Given the description of an element on the screen output the (x, y) to click on. 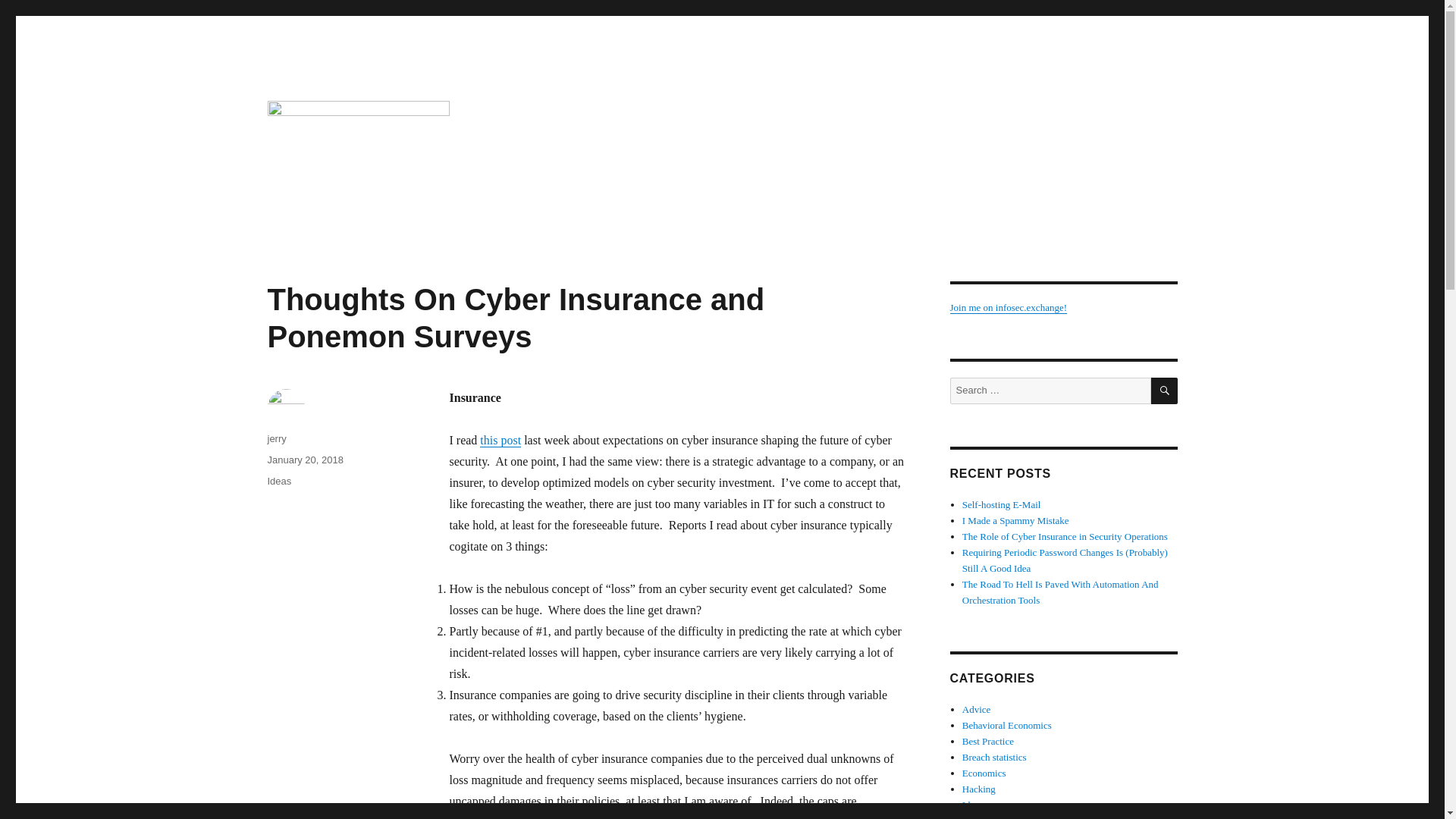
Breach statistics (994, 756)
jerry (275, 438)
January 20, 2018 (304, 460)
Ideas (278, 480)
Hacking (978, 788)
The Role of Cyber Insurance in Security Operations (1064, 536)
Advice (976, 708)
Best Practice (987, 740)
this post (500, 440)
Ideas (972, 804)
Economics (984, 772)
SEARCH (1164, 390)
Malware (979, 816)
Self-hosting E-Mail (1001, 504)
Behavioral Economics (1006, 725)
